Given the description of an element on the screen output the (x, y) to click on. 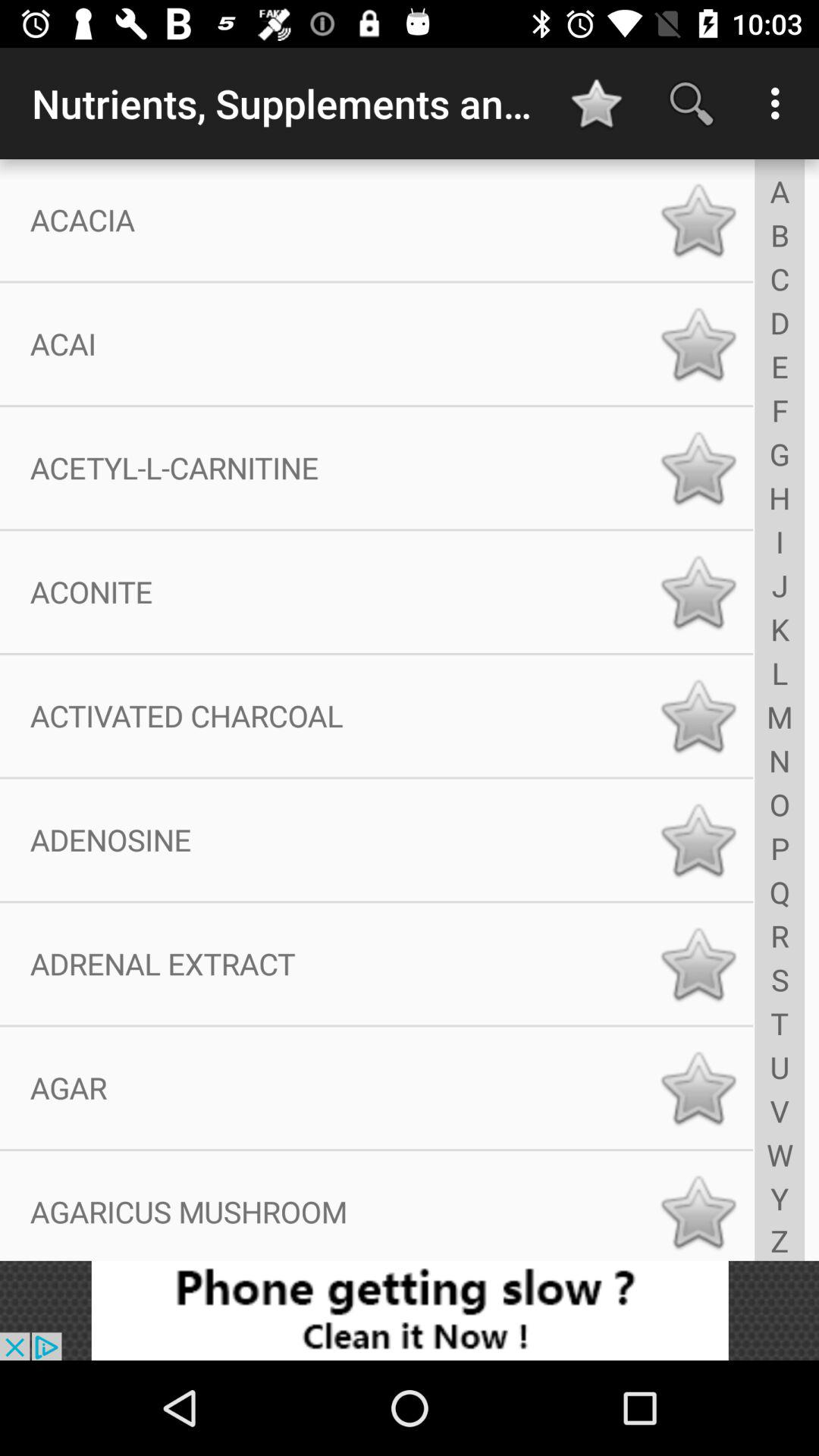
toggle favorite status of acai (697, 344)
